Given the description of an element on the screen output the (x, y) to click on. 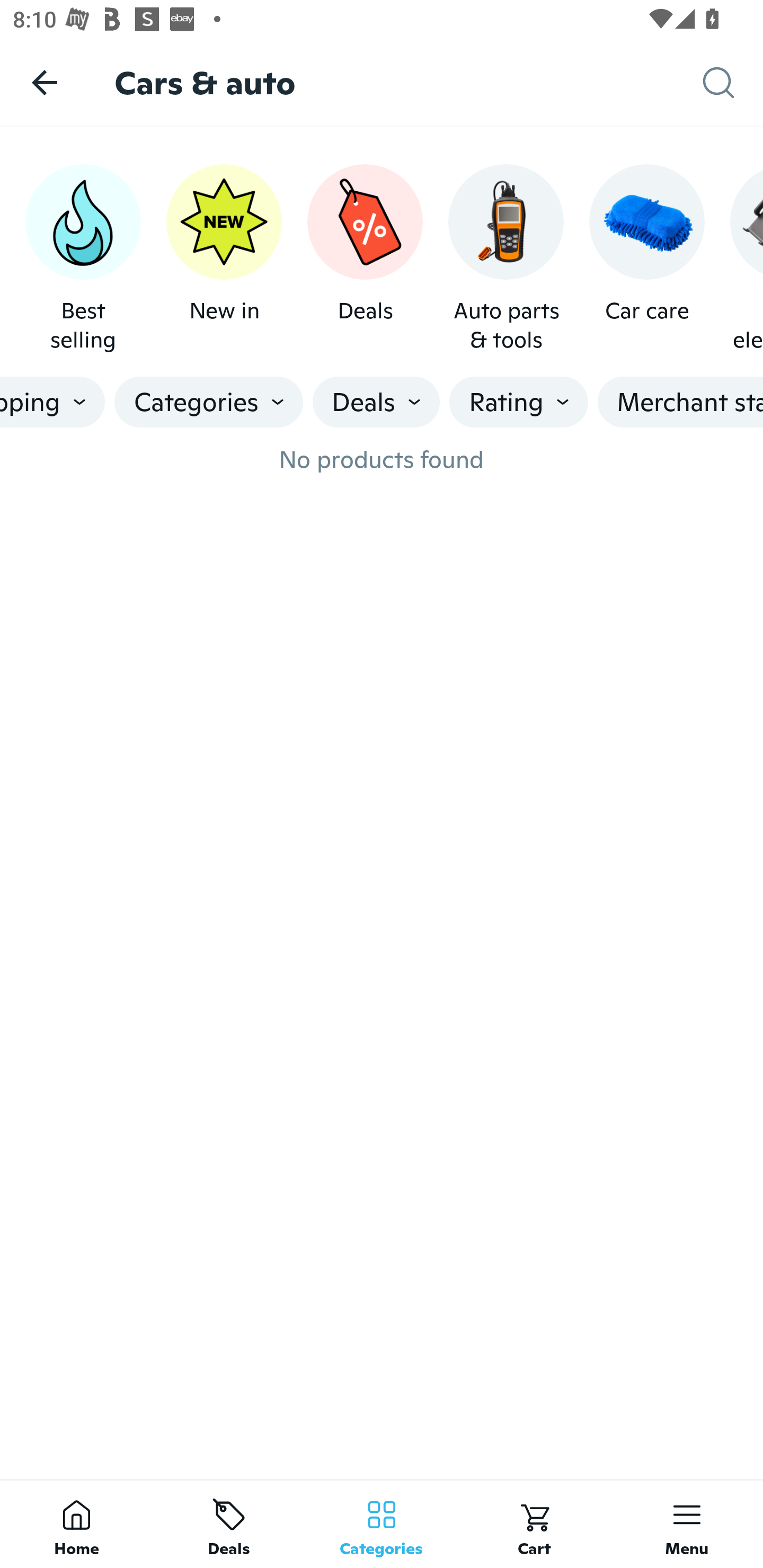
Navigate up (44, 82)
Search (732, 82)
Best selling (83, 259)
New in (223, 259)
Deals (364, 259)
Auto parts & tools (505, 259)
Car care (647, 259)
Categories (208, 402)
Deals (375, 402)
Rating (518, 402)
Merchant status (680, 402)
Home (76, 1523)
Deals (228, 1523)
Categories (381, 1523)
Cart (533, 1523)
Menu (686, 1523)
